Given the description of an element on the screen output the (x, y) to click on. 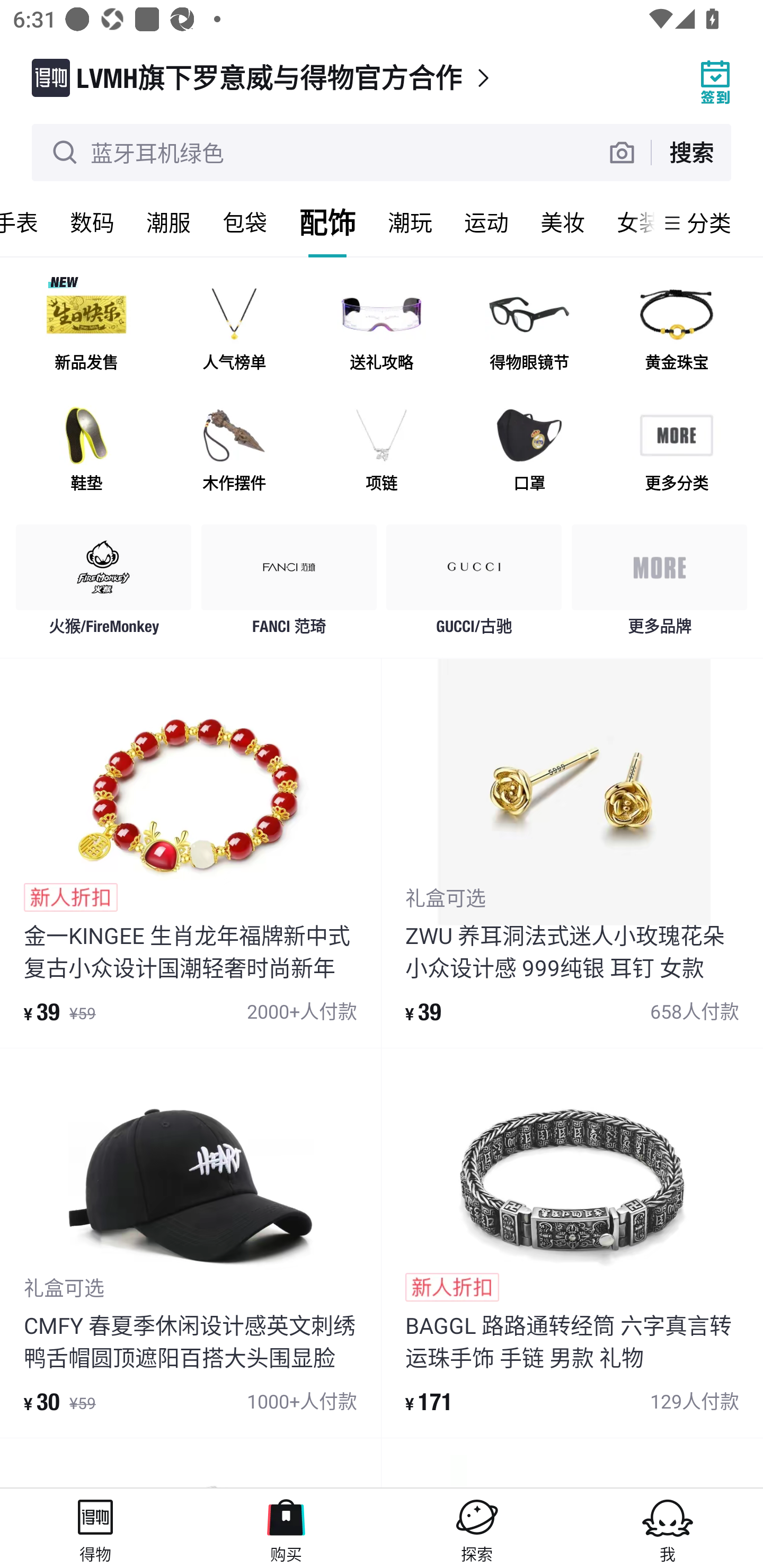
搜索 (690, 152)
手表 (27, 222)
数码 (92, 222)
潮服 (168, 222)
包袋 (244, 222)
配饰 (327, 222)
潮玩 (410, 222)
运动 (486, 222)
美妆 (562, 222)
女装 (627, 222)
分类 (708, 222)
新品发售 (86, 329)
人气榜单 (233, 329)
送礼攻略 (381, 329)
得物眼镜节 (528, 329)
黄金珠宝 (676, 329)
鞋垫 (86, 450)
木作摆件 (233, 450)
项链 (381, 450)
口罩 (528, 450)
更多分类 (676, 450)
火猴/FireMonkey (103, 583)
FANCI 范琦 (288, 583)
GUCCI/古驰 (473, 583)
更多品牌 (658, 583)
得物 (95, 1528)
购买 (285, 1528)
探索 (476, 1528)
我 (667, 1528)
